Given the description of an element on the screen output the (x, y) to click on. 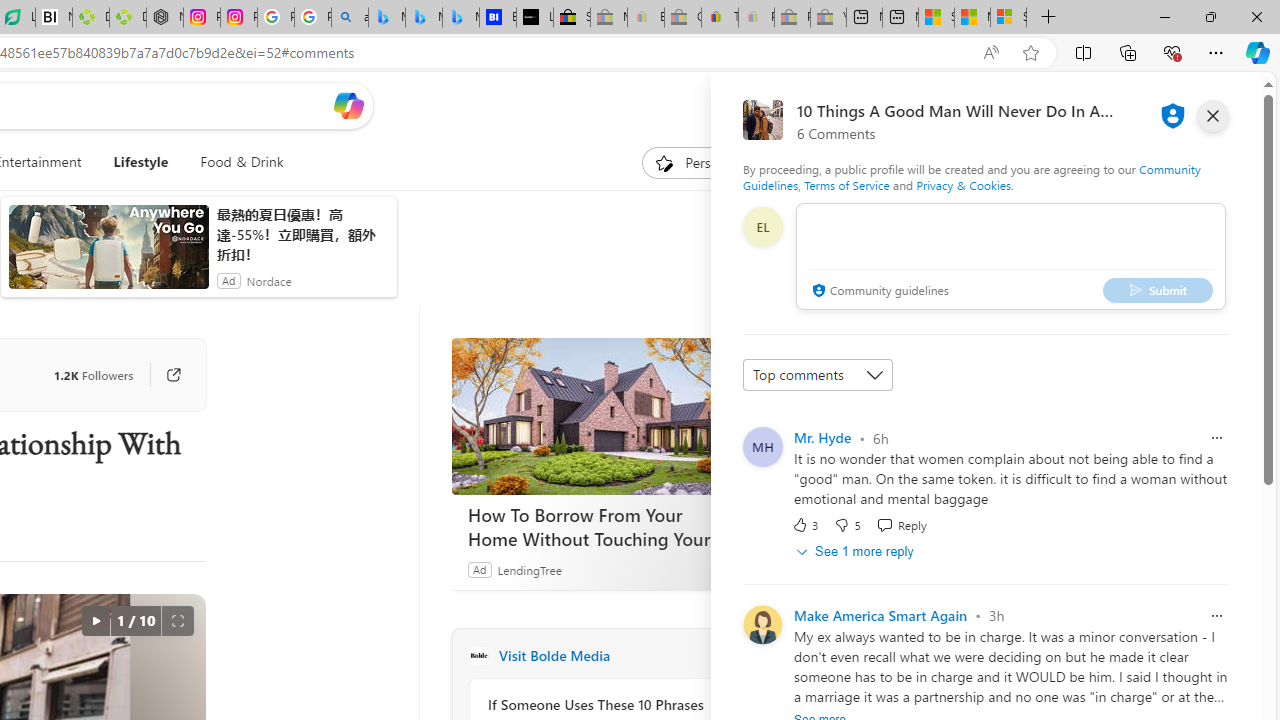
Dislike (847, 524)
LendingTree (528, 569)
Nvidia va a poner a prueba la paciencia de los inversores (53, 17)
See 1 more reply (855, 551)
autorotate button (95, 620)
Submit (1158, 290)
Selling on eBay | Electronics, Fashion, Home & Garden | eBay (572, 17)
